Given the description of an element on the screen output the (x, y) to click on. 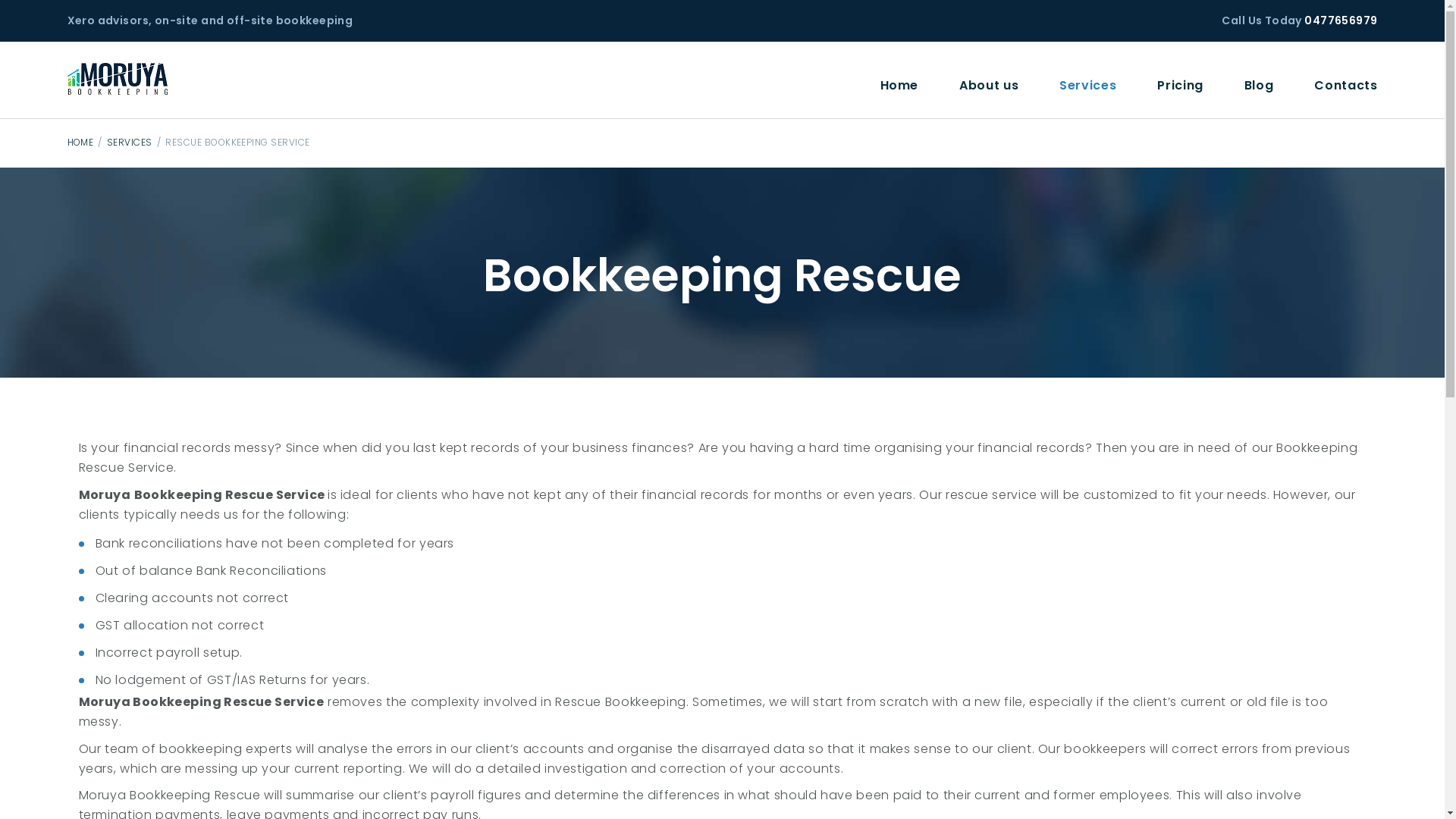
About us Element type: text (988, 85)
HOME Element type: text (79, 141)
Pricing Element type: text (1179, 85)
Services Element type: text (1087, 85)
Blog Element type: text (1259, 85)
0477656979 Element type: text (1340, 20)
Home Element type: text (899, 85)
SERVICES Element type: text (129, 141)
Contacts Element type: text (1345, 85)
Skip to content Element type: text (0, 0)
